Given the description of an element on the screen output the (x, y) to click on. 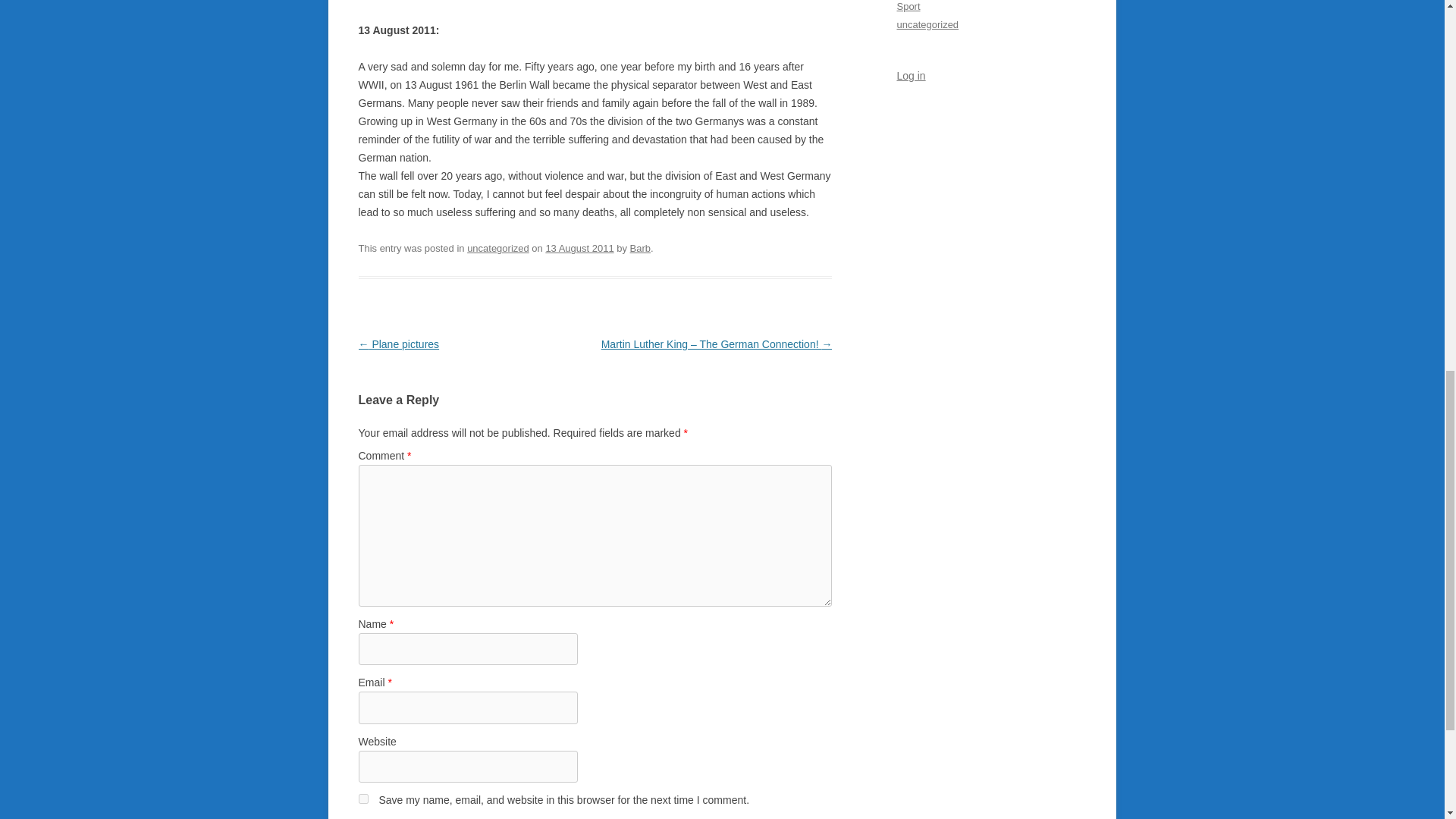
View all posts by Barb (640, 247)
uncategorized (498, 247)
13 August 2011 (578, 247)
yes (363, 798)
1:57 pm (578, 247)
Barb (640, 247)
